Given the description of an element on the screen output the (x, y) to click on. 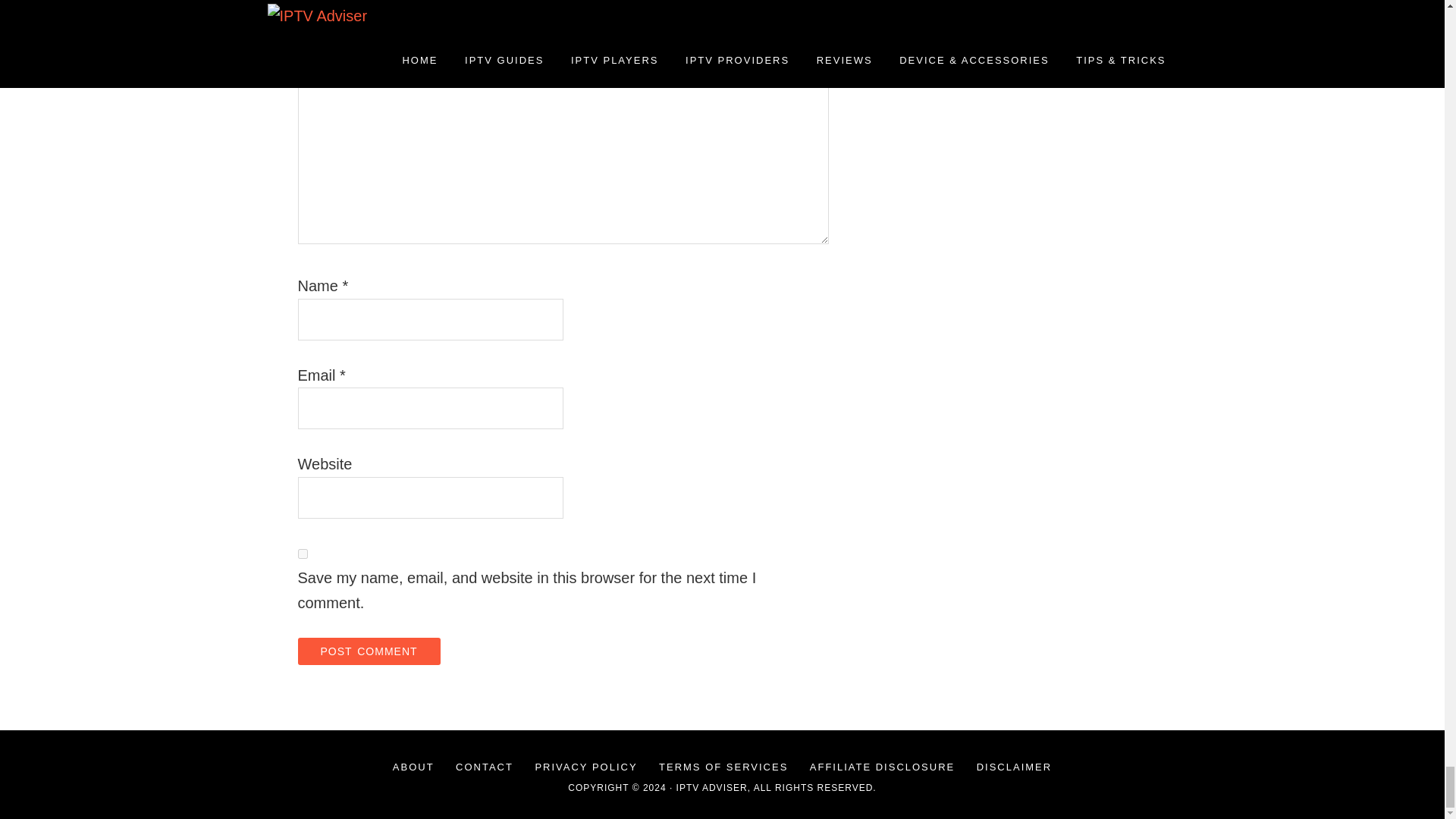
yes (302, 553)
Post Comment (368, 651)
